Given the description of an element on the screen output the (x, y) to click on. 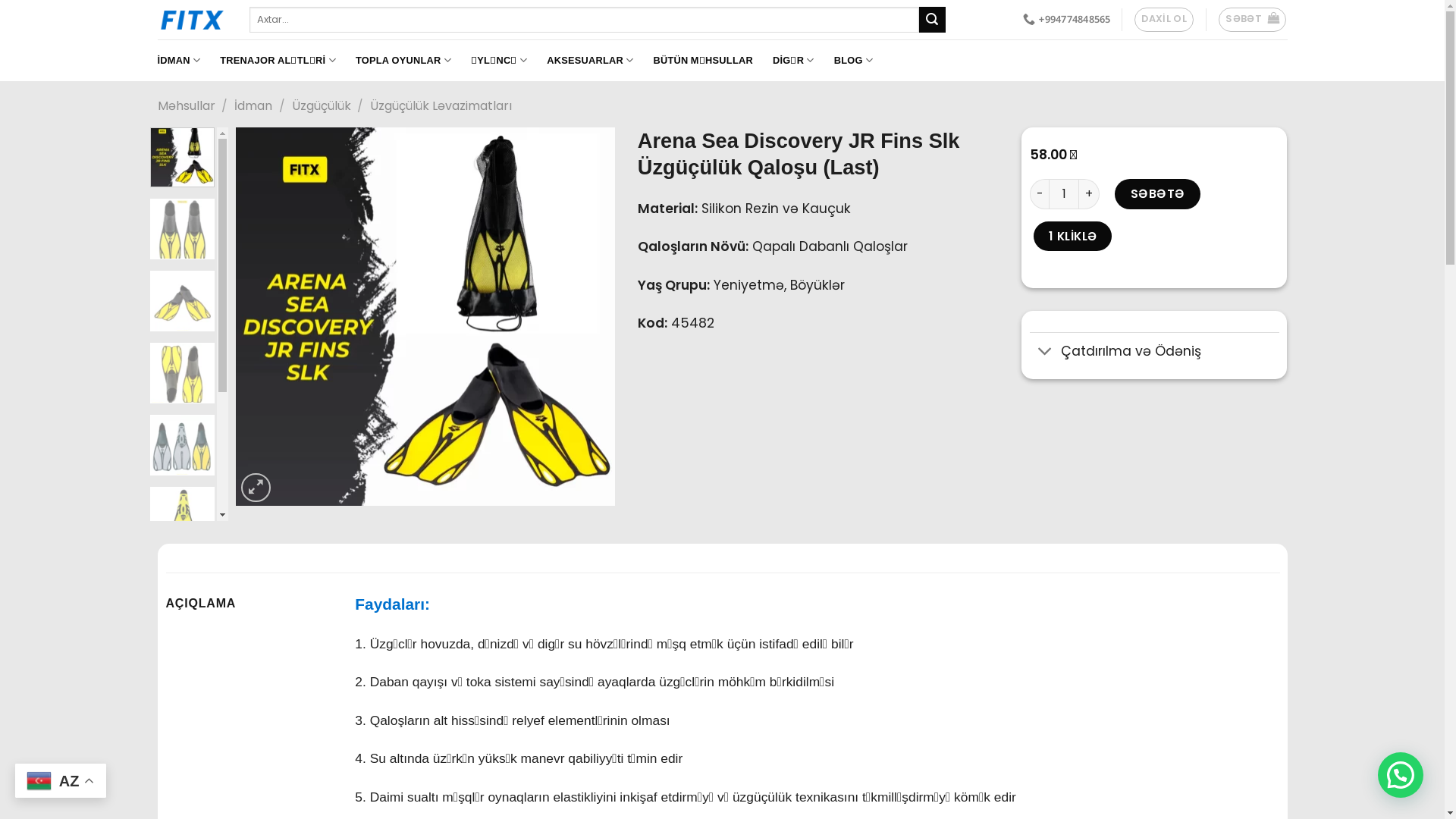
+994774848565 Element type: text (1066, 19)
Fitx.az Element type: hover (191, 19)
DAXIL OL Element type: text (1163, 19)
Zoom Element type: hover (255, 487)
BLOG Element type: text (853, 59)
Search Element type: text (931, 19)
TOPLA OYUNLAR Element type: text (403, 59)
AKSESUARLAR Element type: text (589, 59)
